Given the description of an element on the screen output the (x, y) to click on. 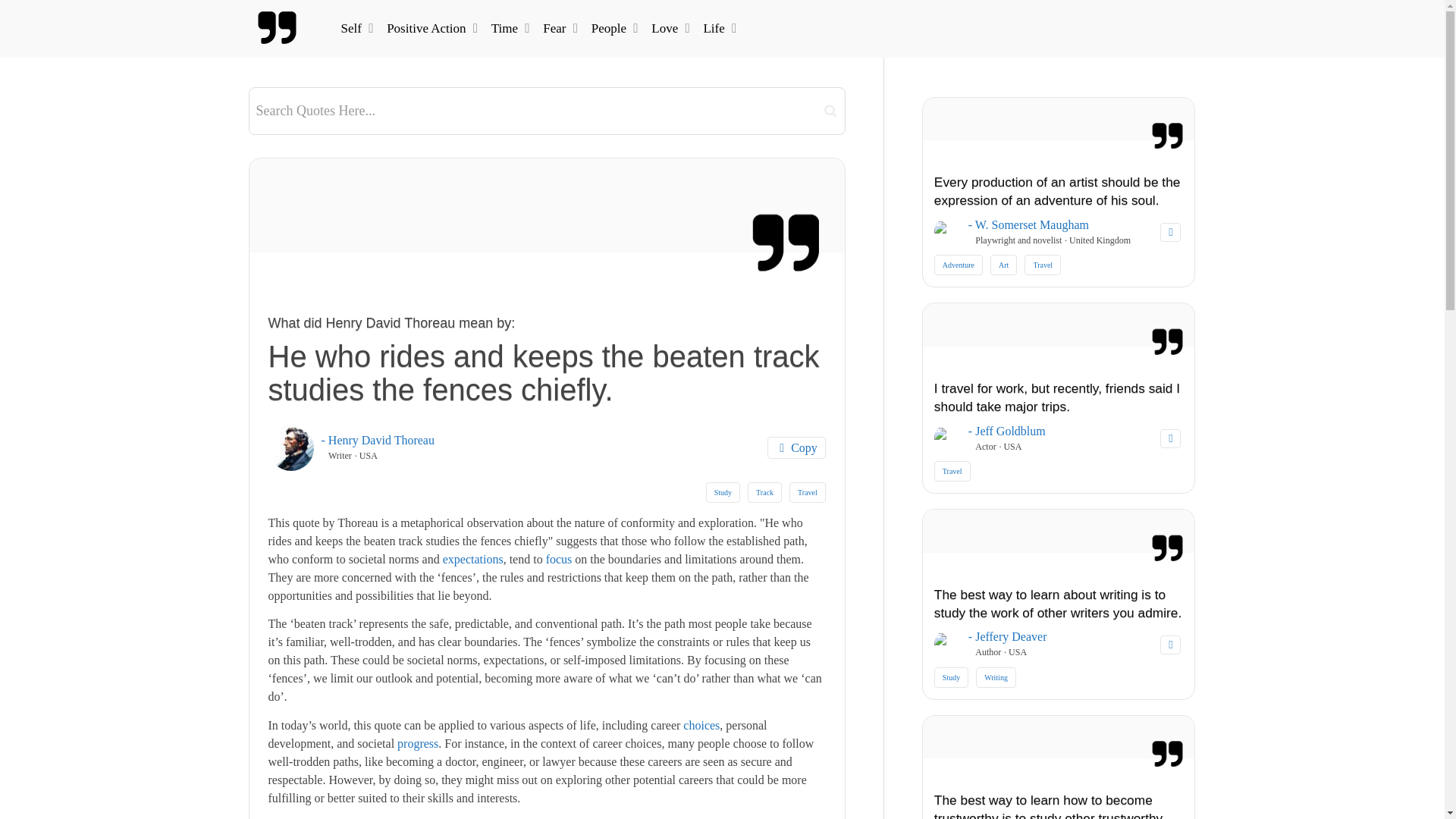
Search (830, 110)
Self (354, 28)
Project Quotes Guide - Best Perspectives on Life (276, 28)
Search (830, 110)
